Given the description of an element on the screen output the (x, y) to click on. 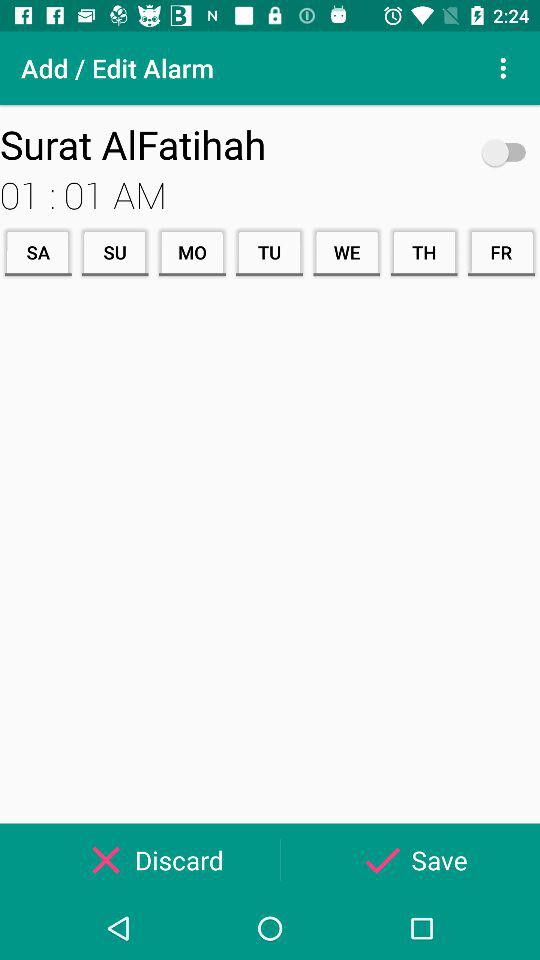
tap icon above the sa item (244, 194)
